Given the description of an element on the screen output the (x, y) to click on. 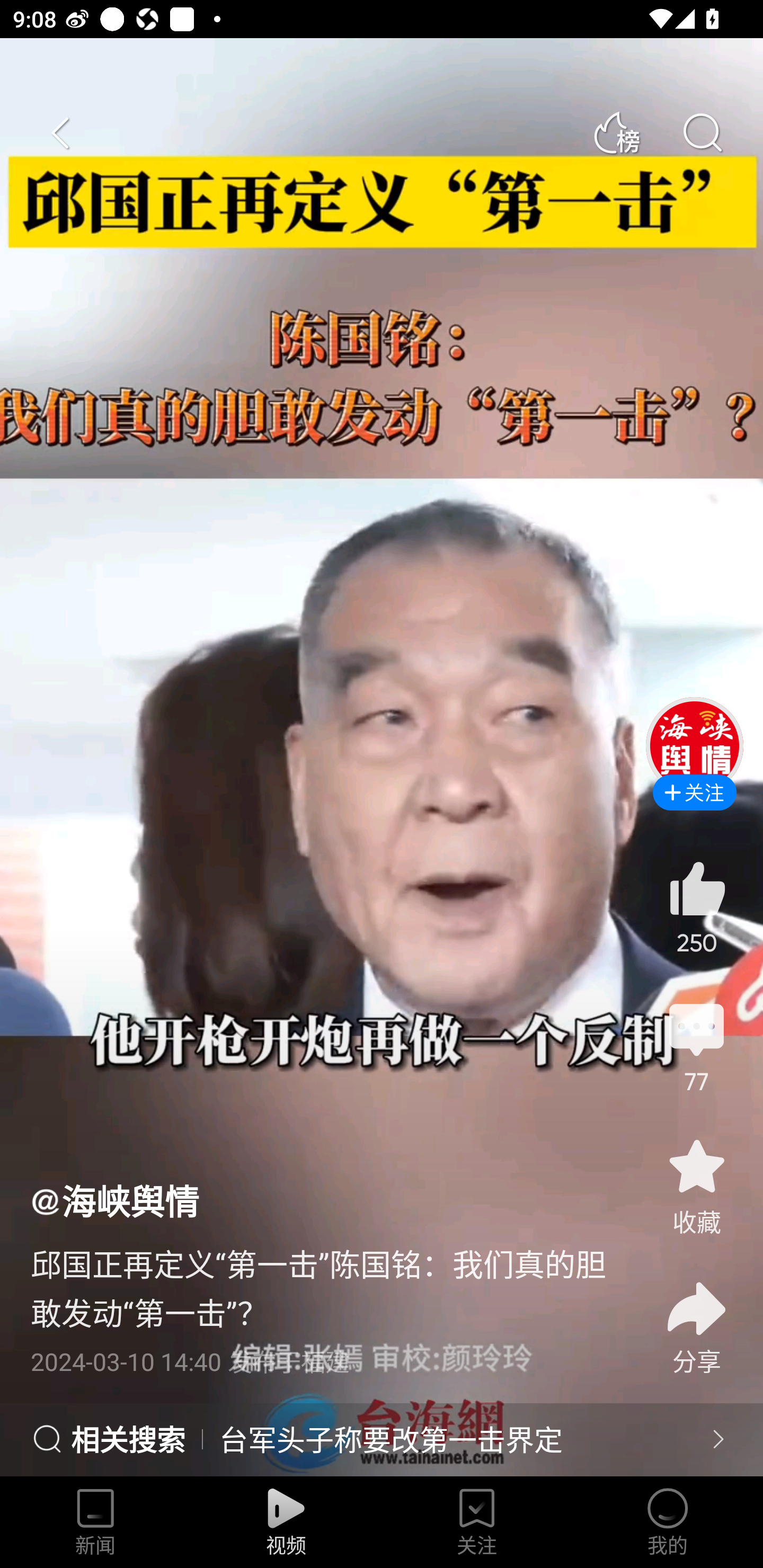
 返回 (60, 133)
 热榜 (616, 133)
 搜索 (701, 133)
赞 250 (696, 906)
评论  77 (696, 1045)
收藏 (696, 1184)
海峡舆情 (114, 1200)
分享  分享 (696, 1315)
相关搜索 台军头子称要改第一击界定  (381, 1440)
